Given the description of an element on the screen output the (x, y) to click on. 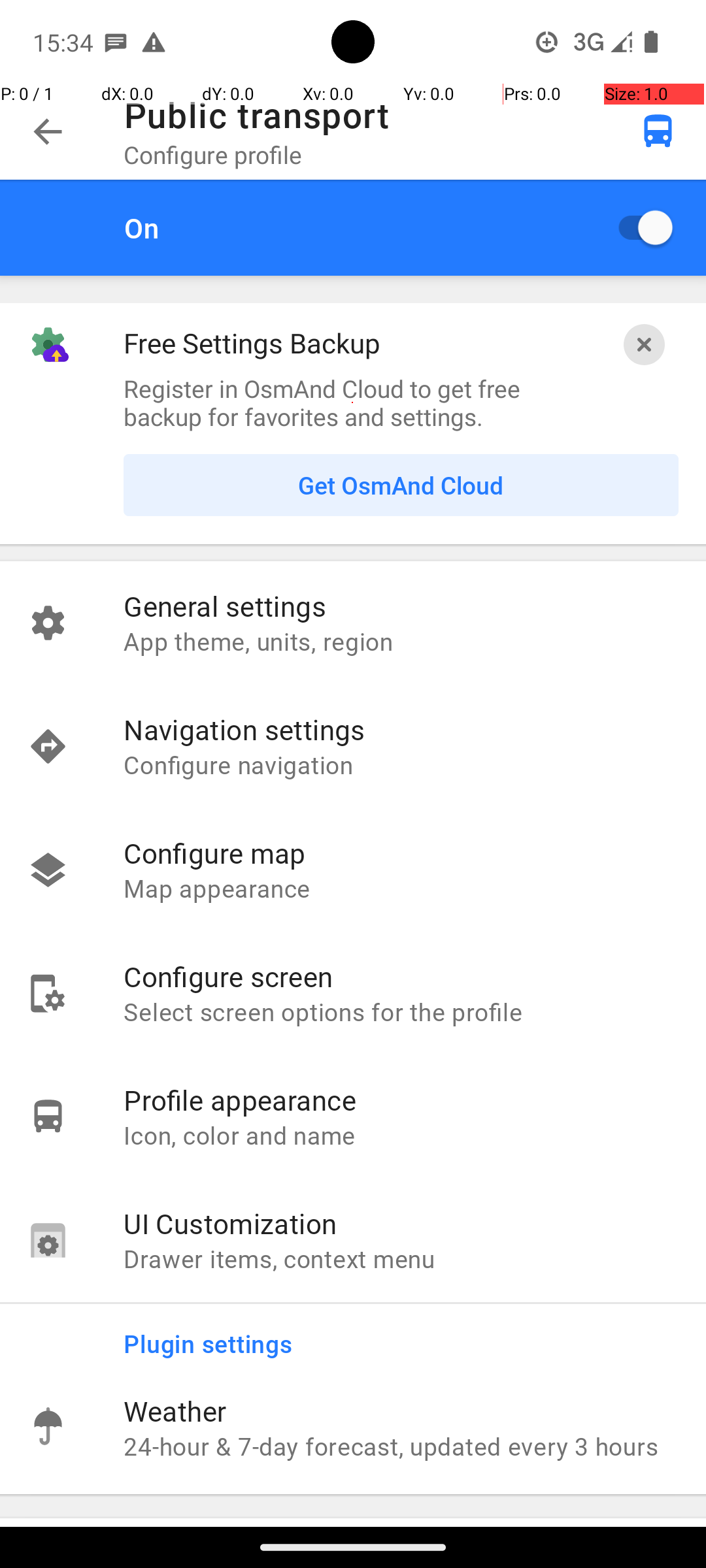
Configure profile Element type: android.widget.TextView (212, 154)
App profile type Element type: android.widget.ImageView (657, 131)
On Element type: android.widget.TextView (333, 227)
Free Settings Backup Element type: android.widget.TextView (252, 342)
Register in OsmAnd Cloud to get free backup for favorites and settings. Element type: android.widget.TextView (352, 402)
General settings Element type: android.widget.TextView (400, 605)
App theme, units, region Element type: android.widget.TextView (400, 640)
Navigation settings Element type: android.widget.TextView (400, 729)
Configure navigation Element type: android.widget.TextView (400, 764)
Map appearance Element type: android.widget.TextView (400, 887)
Configure screen Element type: android.widget.TextView (400, 976)
Select screen options for the profile Element type: android.widget.TextView (400, 1011)
Profile appearance Element type: android.widget.TextView (400, 1099)
Icon, color and name Element type: android.widget.TextView (400, 1134)
UI Customization Element type: android.widget.TextView (400, 1222)
Drawer items, context menu Element type: android.widget.TextView (400, 1258)
Plugin settings Element type: android.widget.TextView (414, 1334)
Weather Element type: android.widget.TextView (400, 1410)
24-hour & 7-day forecast, updated every 3 hours Element type: android.widget.TextView (400, 1445)
Get OsmAnd Cloud Element type: android.widget.TextView (400, 485)
